Given the description of an element on the screen output the (x, y) to click on. 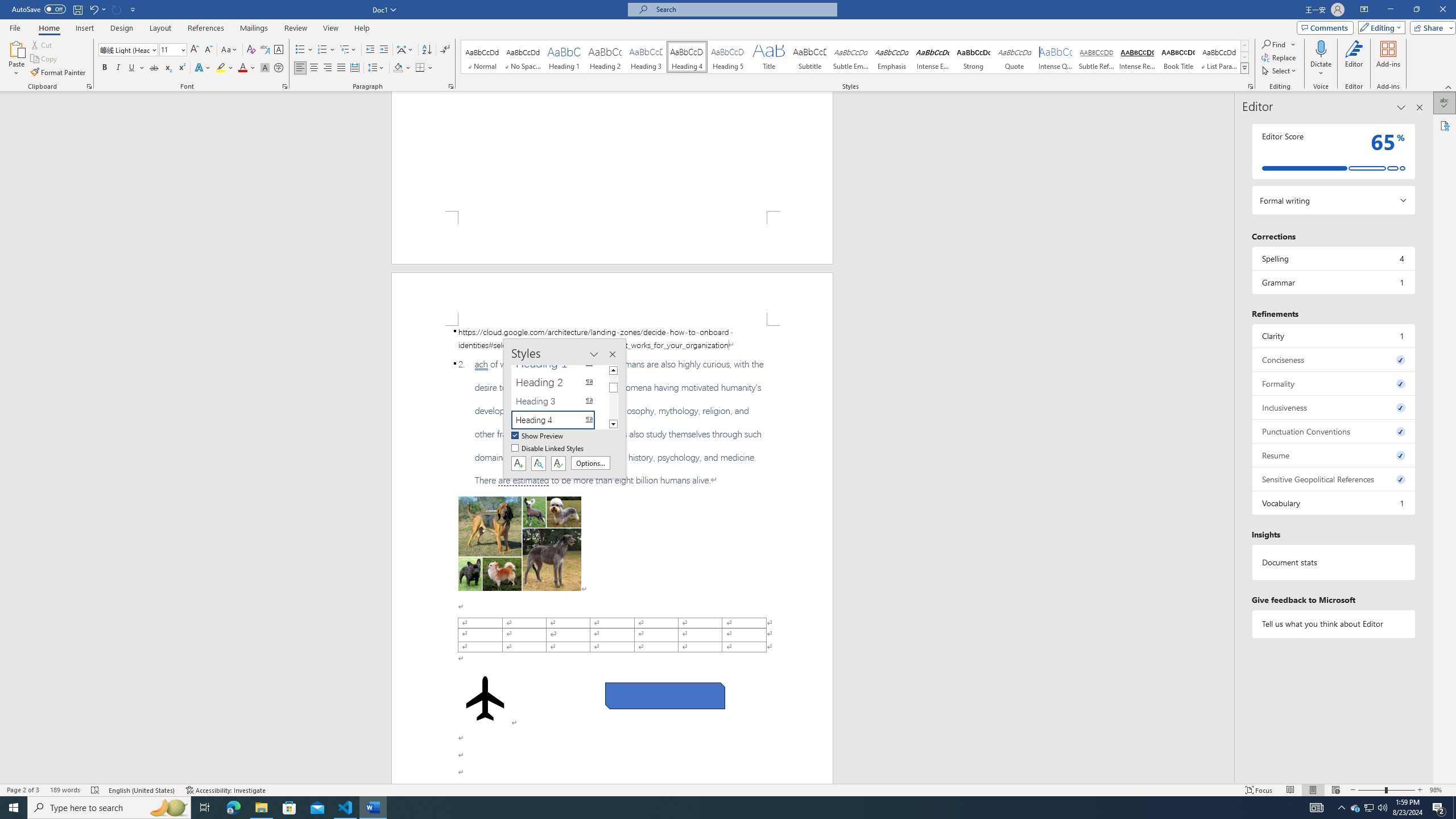
Class: NetUIImage (1245, 68)
Bold (104, 67)
Minimize (1390, 9)
Character Shading (264, 67)
Save (77, 9)
Focus  (1258, 790)
Heading 3 (646, 56)
Numbering (322, 49)
Comments (1325, 27)
Grammar, 1 issue. Press space or enter to review items. (1333, 282)
Font Size (169, 49)
Superscript (180, 67)
Shrink Font (208, 49)
Open (182, 49)
Cut (42, 44)
